Given the description of an element on the screen output the (x, y) to click on. 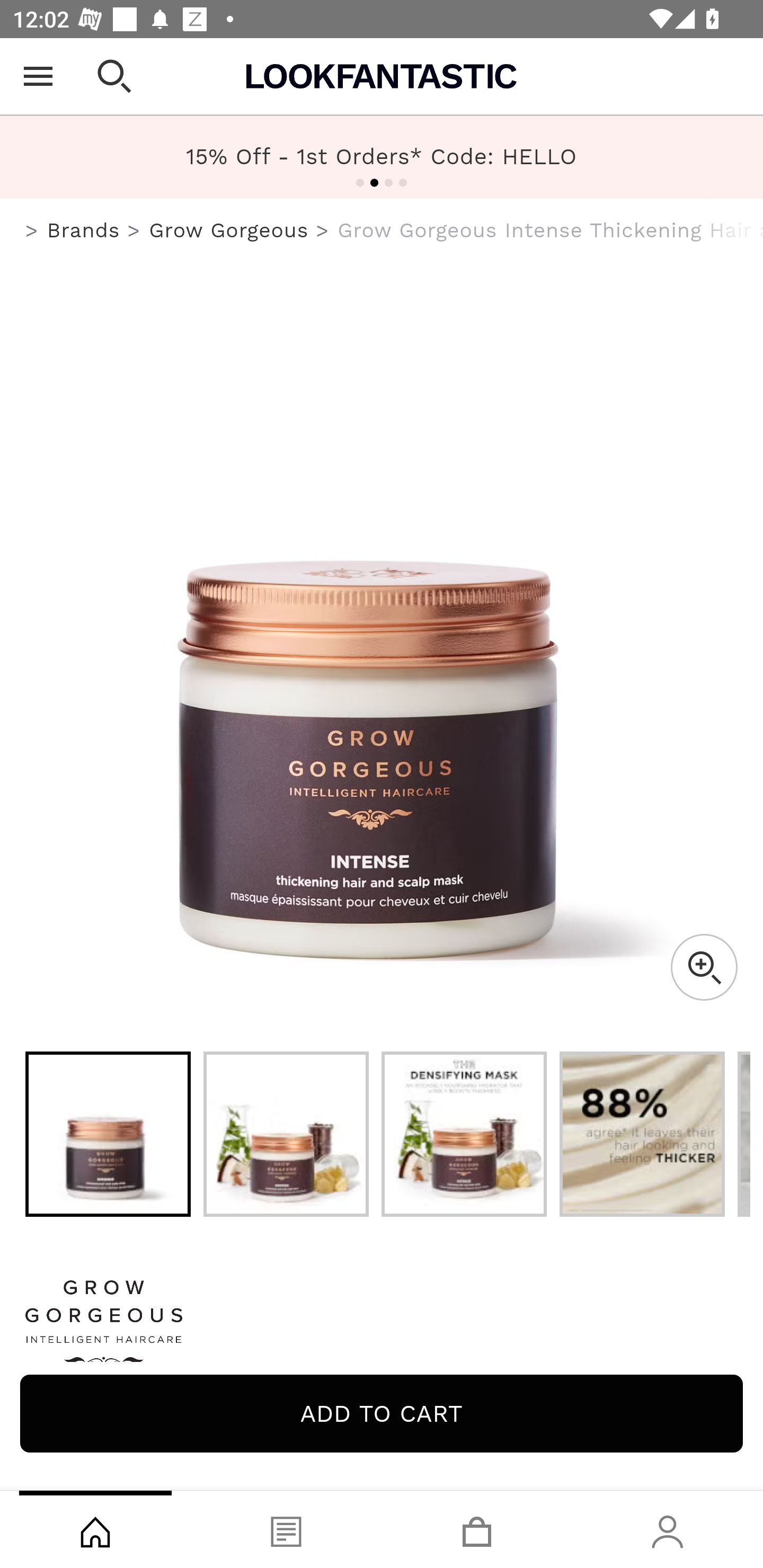
Open Menu (38, 75)
Open search (114, 75)
Lookfantastic USA (381, 75)
FREE US Shipping Over $40 (381, 157)
us.lookfantastic (32, 230)
Brands (82, 230)
Grow Gorgeous (228, 230)
Zoom (703, 966)
Grow Gorgeous (381, 1327)
Add to cart (381, 1413)
Shop, tab, 1 of 4 (95, 1529)
Blog, tab, 2 of 4 (285, 1529)
Basket, tab, 3 of 4 (476, 1529)
Account, tab, 4 of 4 (667, 1529)
